Given the description of an element on the screen output the (x, y) to click on. 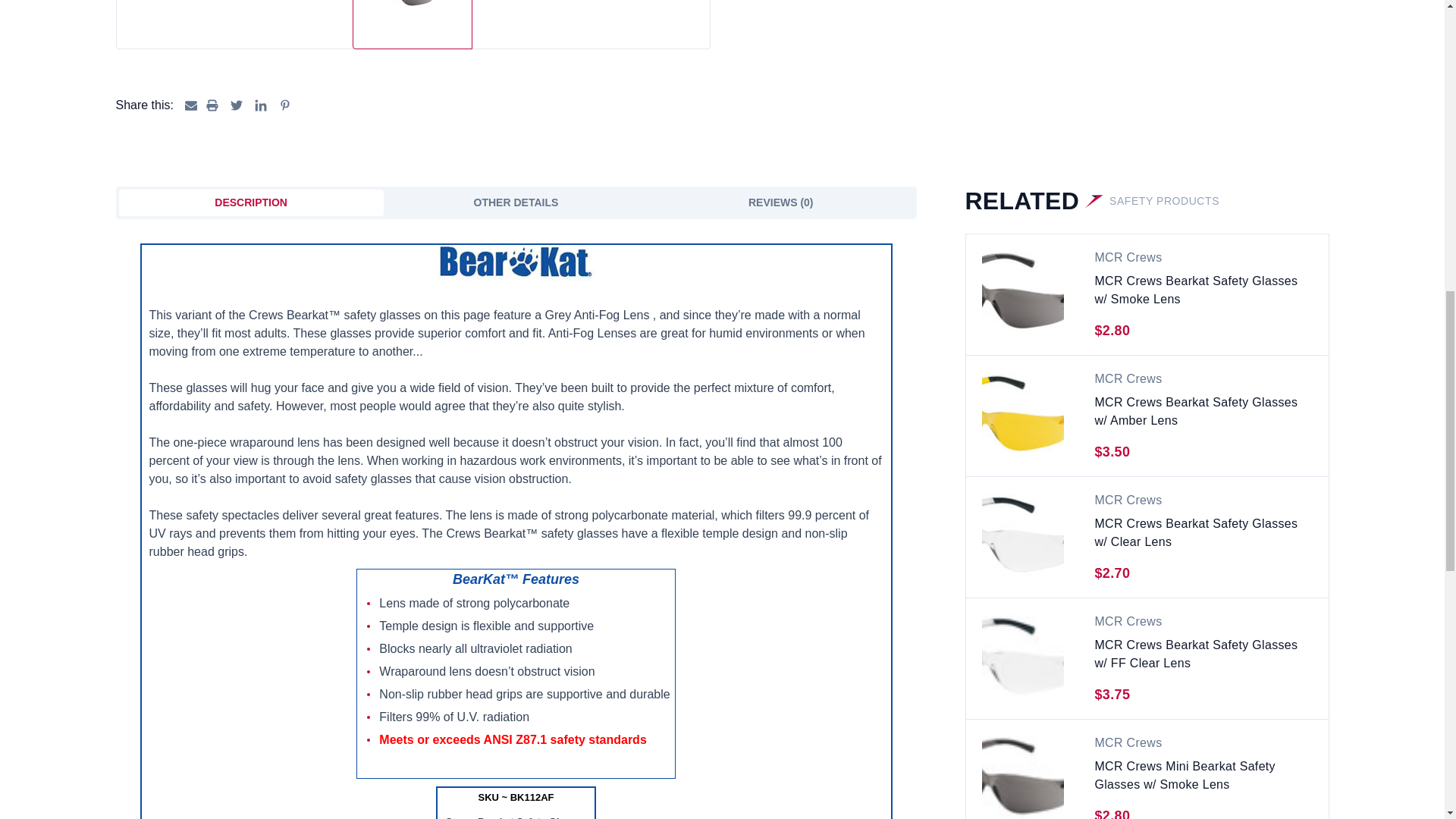
Print (212, 105)
Twitter (236, 105)
Email (190, 105)
Pinterest (285, 105)
Linkedin (260, 105)
